Given the description of an element on the screen output the (x, y) to click on. 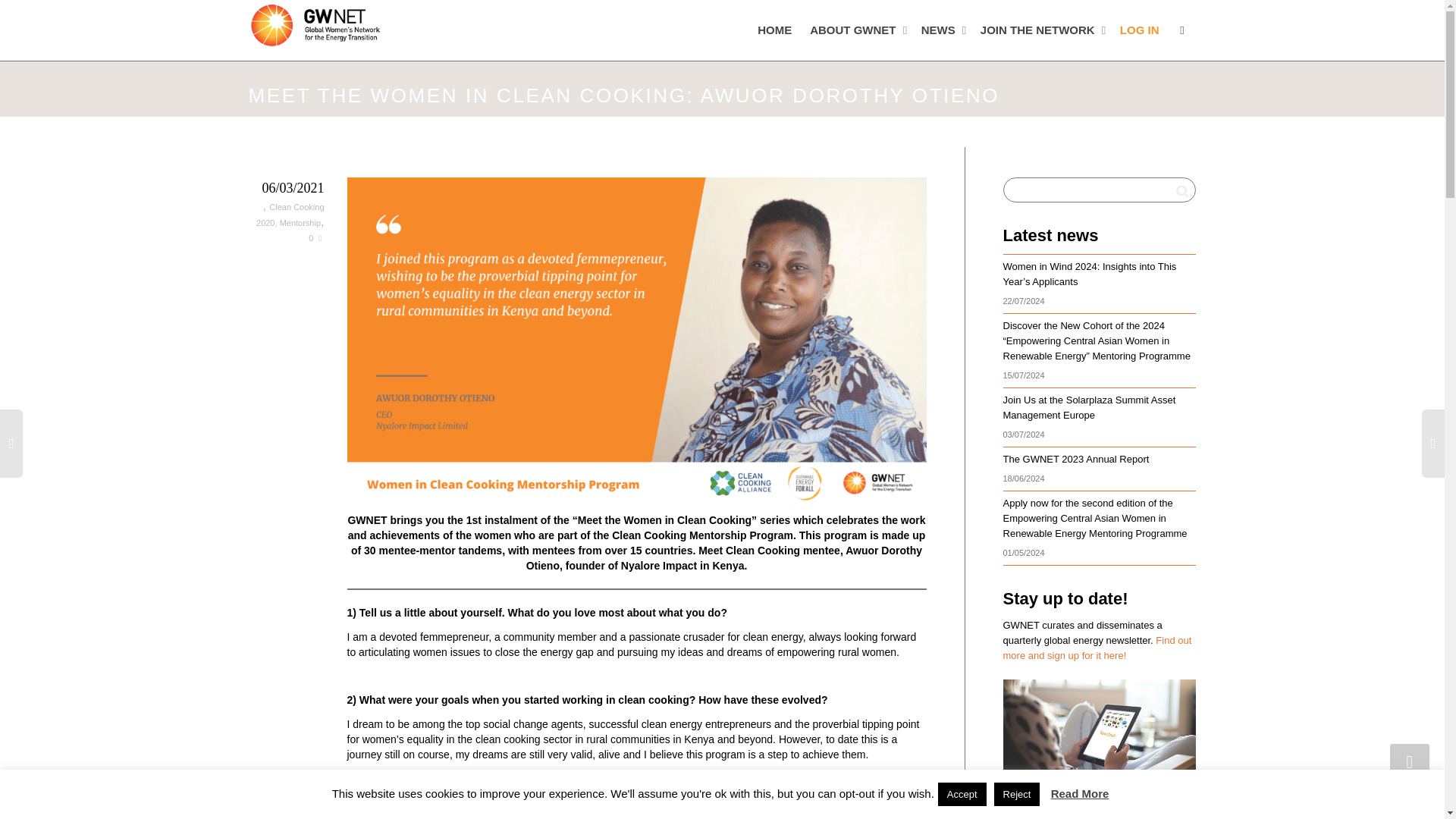
0 (315, 237)
Clean Cooking 2020 (289, 214)
Mentorship (299, 222)
JOIN THE NETWORK (1040, 30)
NEWS (941, 30)
NEWS (941, 30)
ABOUT GWNET (855, 30)
ABOUT GWNET (855, 30)
Search (1181, 190)
JOIN THE NETWORK (1040, 30)
Search (1181, 190)
GWNET (314, 24)
